Given the description of an element on the screen output the (x, y) to click on. 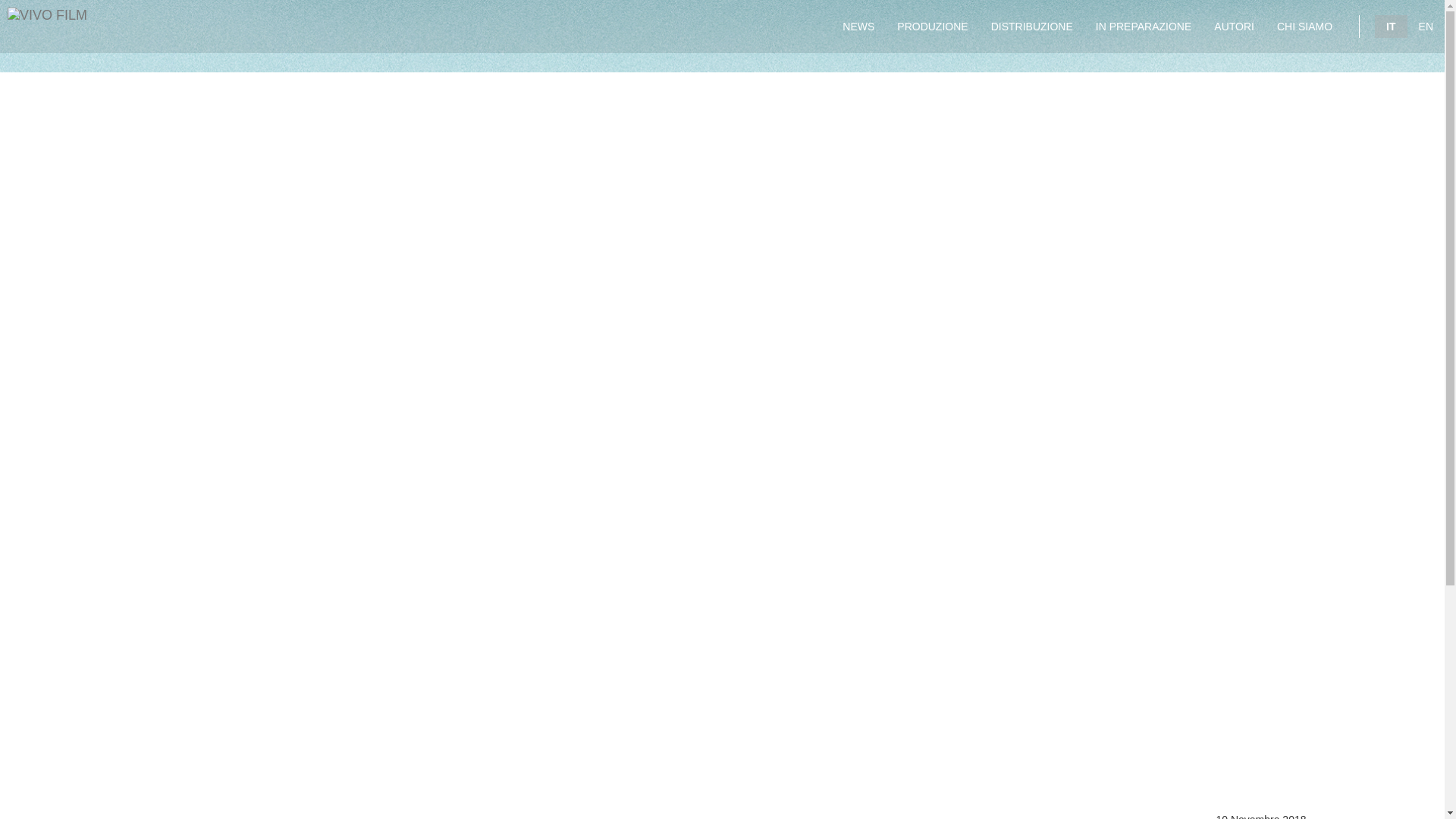
Distribuzione (1031, 26)
Italiano (1390, 26)
In preparazione (1144, 26)
IN PREPARAZIONE (1144, 26)
DISTRIBUZIONE (1031, 26)
NEWS (858, 26)
CHI SIAMO (1304, 26)
Autori (1233, 26)
IT (1390, 26)
PRODUZIONE (931, 26)
